Given the description of an element on the screen output the (x, y) to click on. 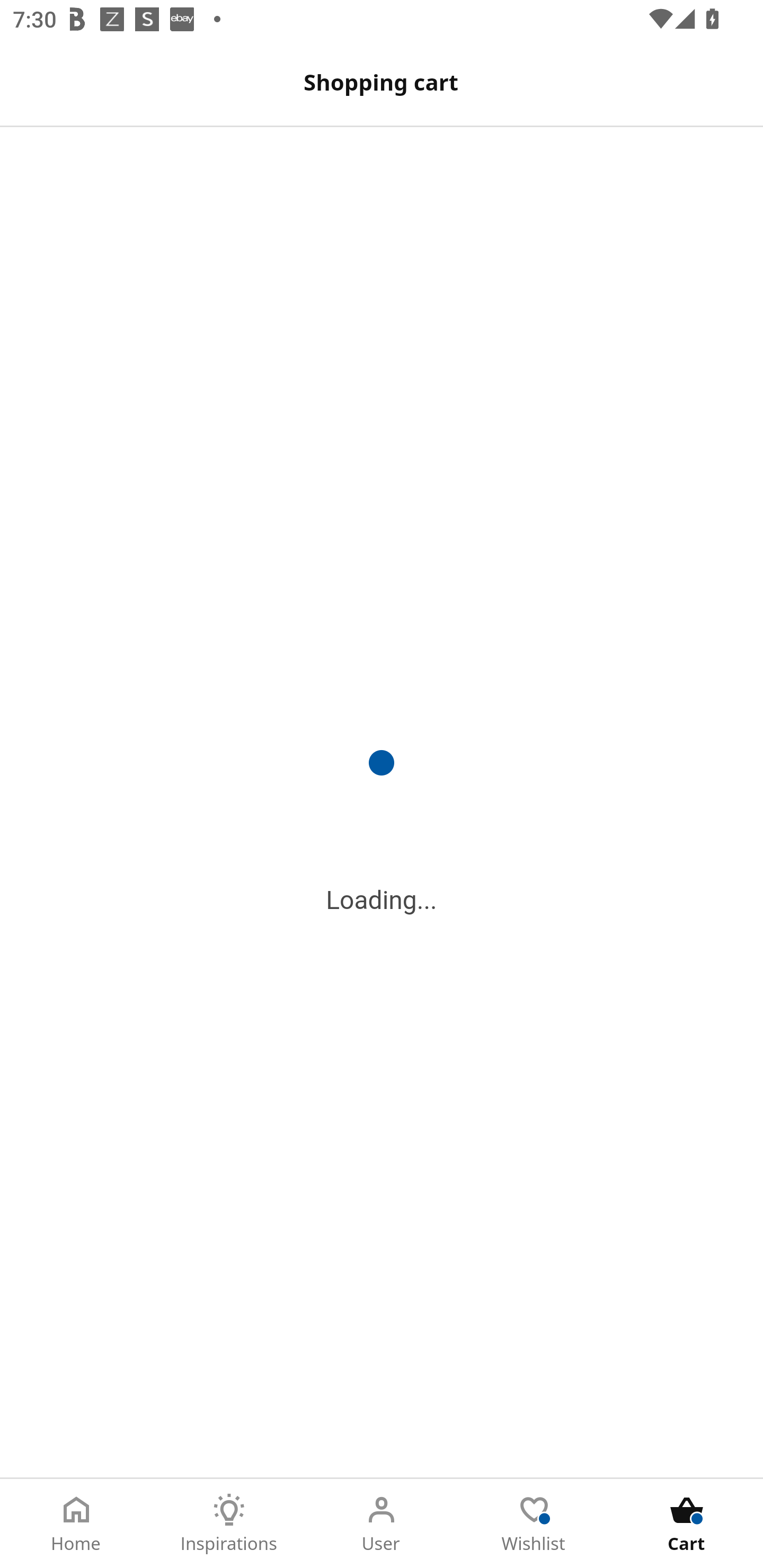
Home
Tab 1 of 5 (76, 1522)
Inspirations
Tab 2 of 5 (228, 1522)
User
Tab 3 of 5 (381, 1522)
Wishlist
Tab 4 of 5 (533, 1522)
Cart
Tab 5 of 5 (686, 1522)
